Given the description of an element on the screen output the (x, y) to click on. 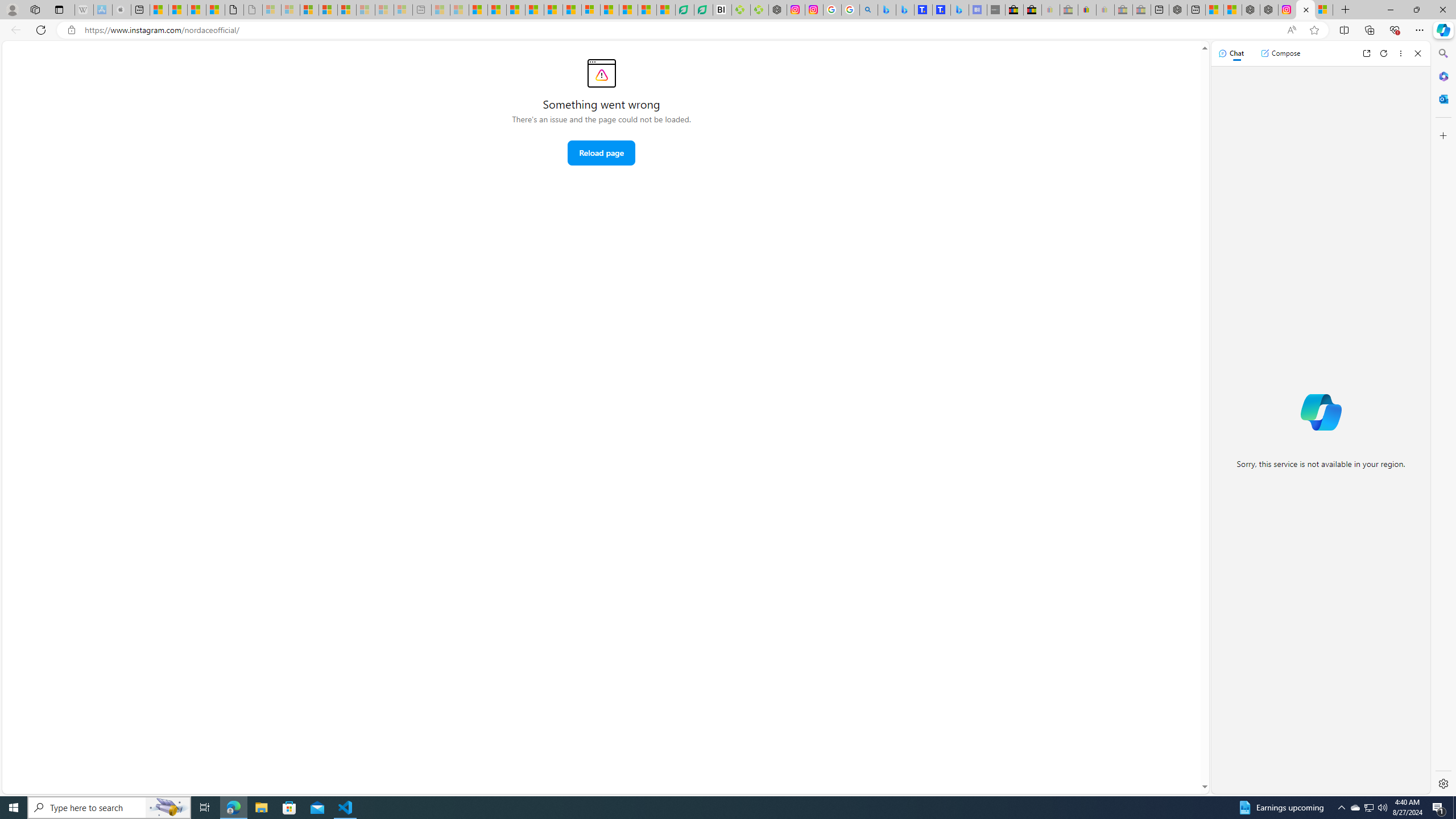
Buy iPad - Apple - Sleeping (121, 9)
US Heat Deaths Soared To Record High Last Year (609, 9)
Open link in new tab (1366, 53)
New tab - Sleeping (421, 9)
Marine life - MSN - Sleeping (459, 9)
Microsoft Bing Travel - Flights from Hong Kong to Bangkok (887, 9)
Aberdeen, Hong Kong SAR weather forecast | Microsoft Weather (177, 9)
